Given the description of an element on the screen output the (x, y) to click on. 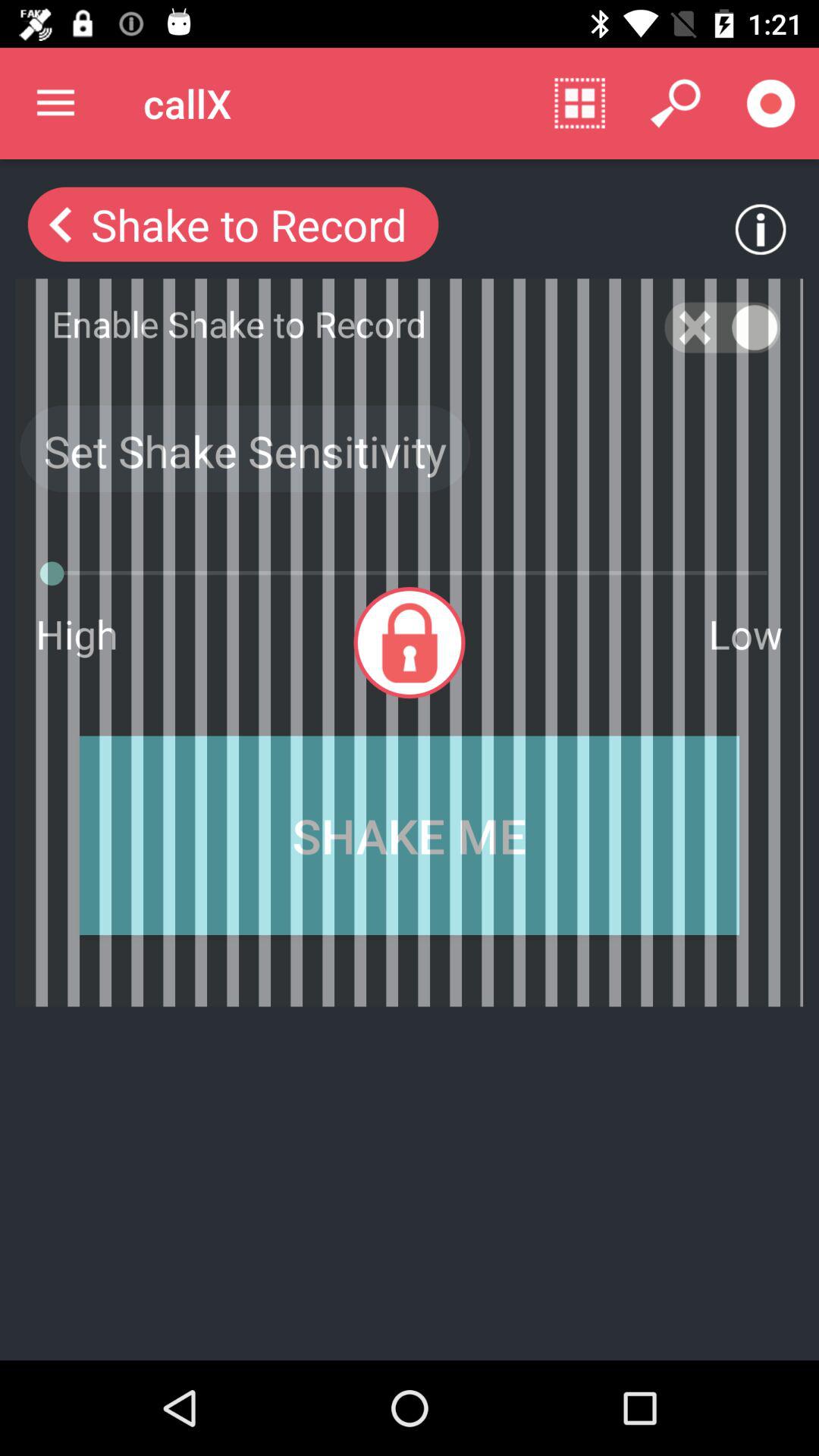
click the shake me button on the web page (409, 835)
